Given the description of an element on the screen output the (x, y) to click on. 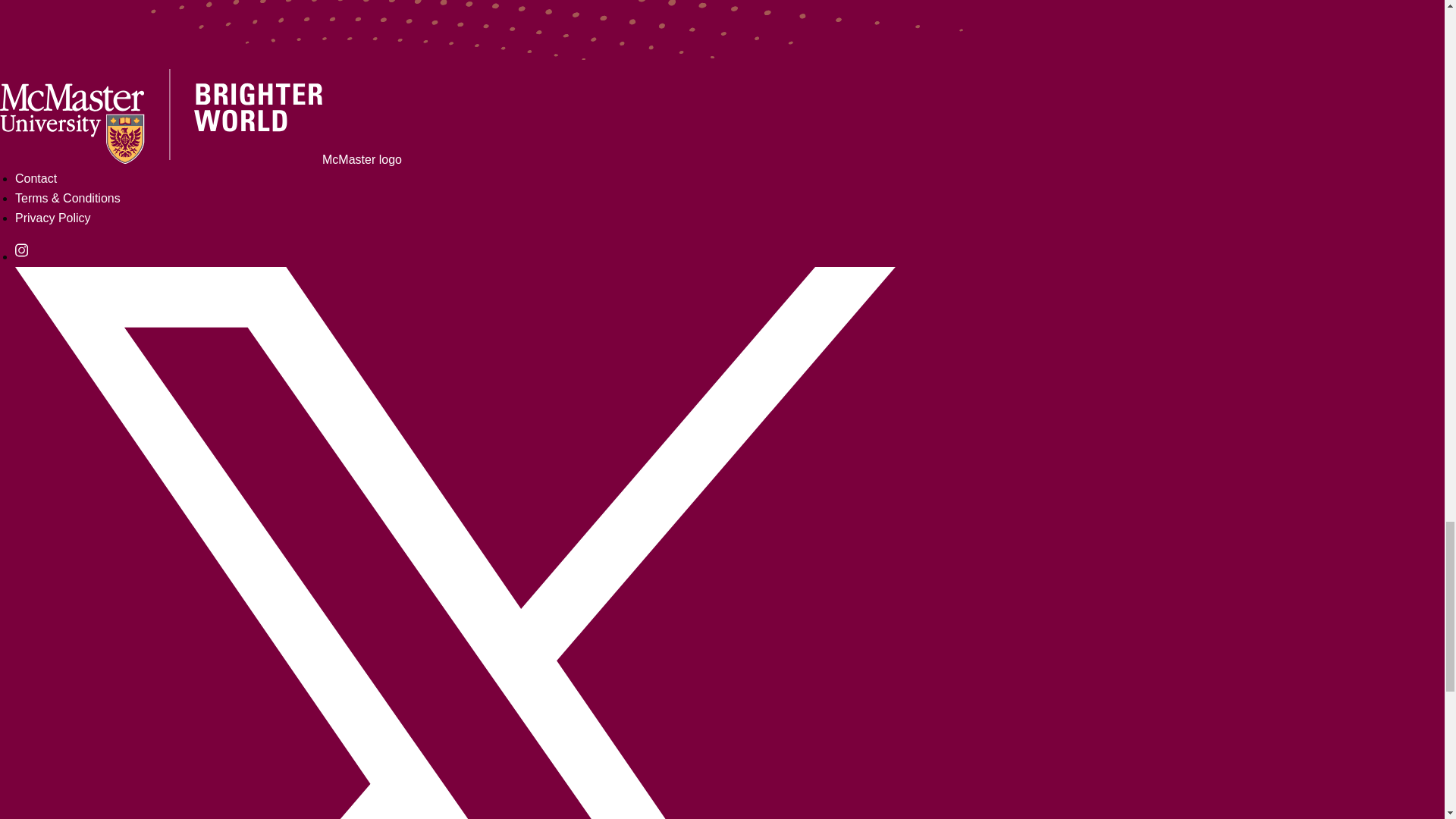
Privacy Policy (52, 217)
Contact (35, 178)
McMaster logo (200, 159)
